Given the description of an element on the screen output the (x, y) to click on. 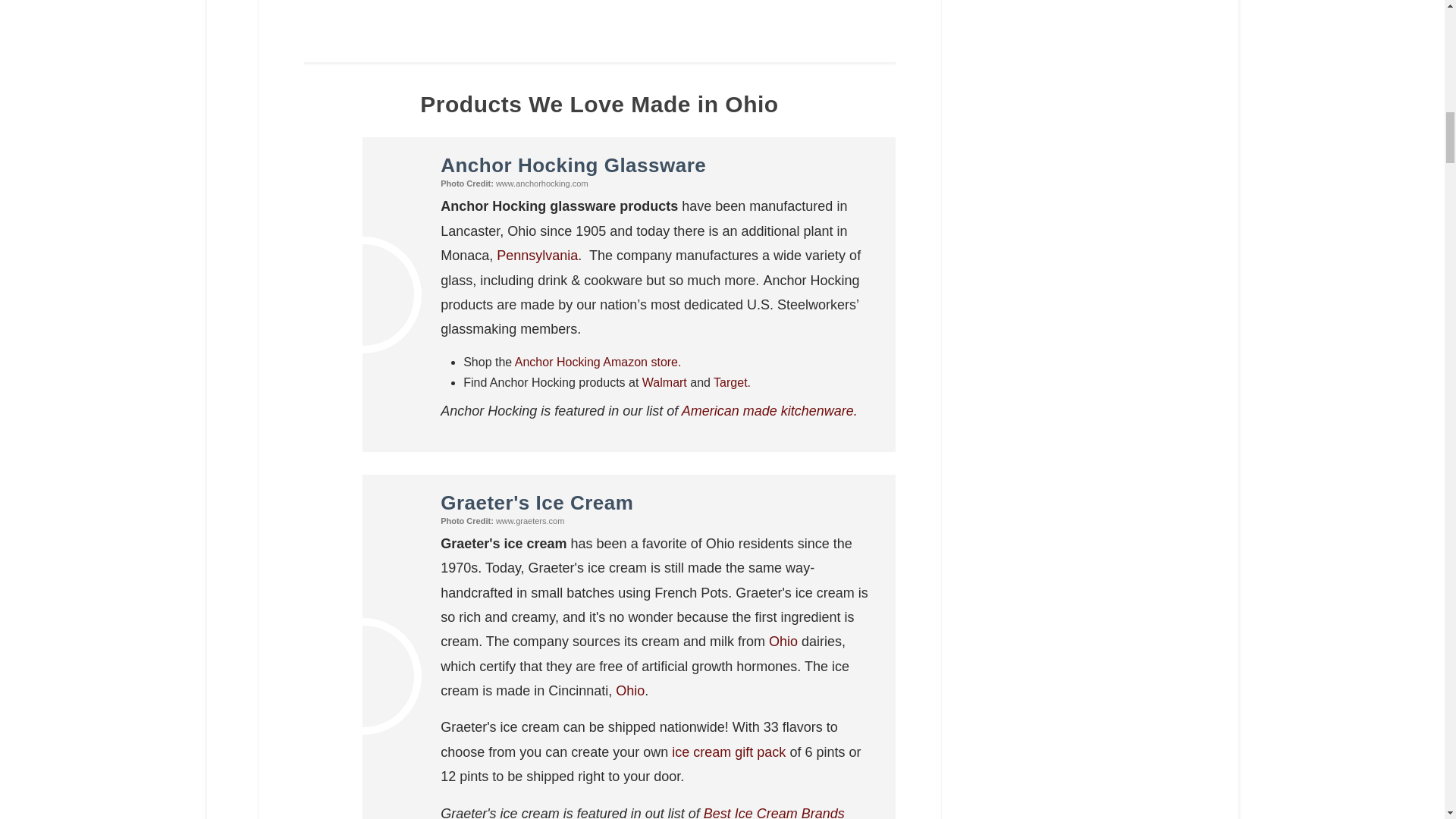
Anchor Hocking Glassware (573, 164)
Target. (730, 382)
Anchor Hocking Amazon store. (598, 361)
Graeter's Ice Cream (537, 502)
Pennsylvania (537, 255)
Walmart (664, 382)
American made kitchenware. (769, 410)
